Given the description of an element on the screen output the (x, y) to click on. 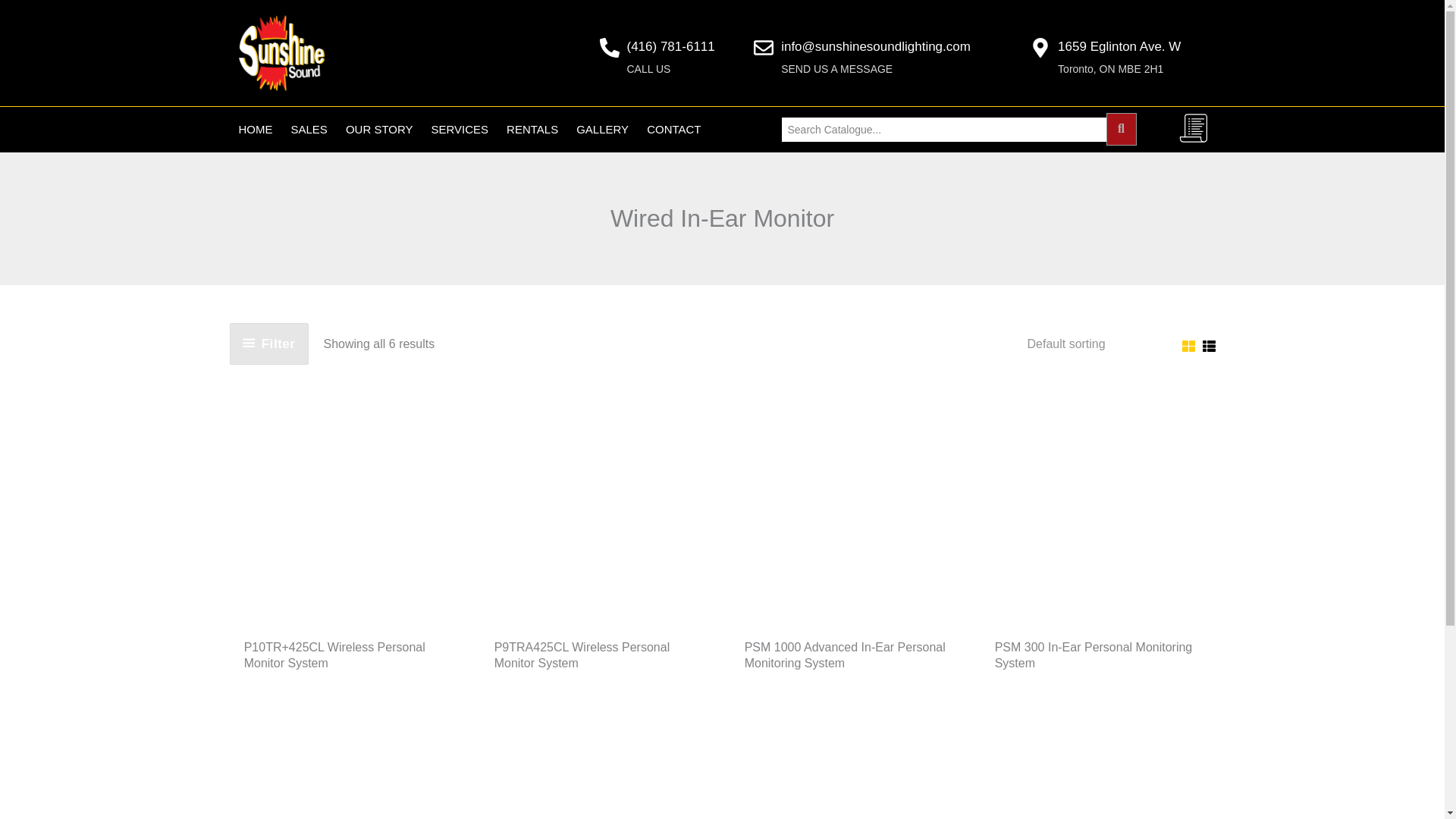
HOME (254, 129)
SALES (309, 129)
1659 Eglinton Ave. W (1119, 46)
